Given the description of an element on the screen output the (x, y) to click on. 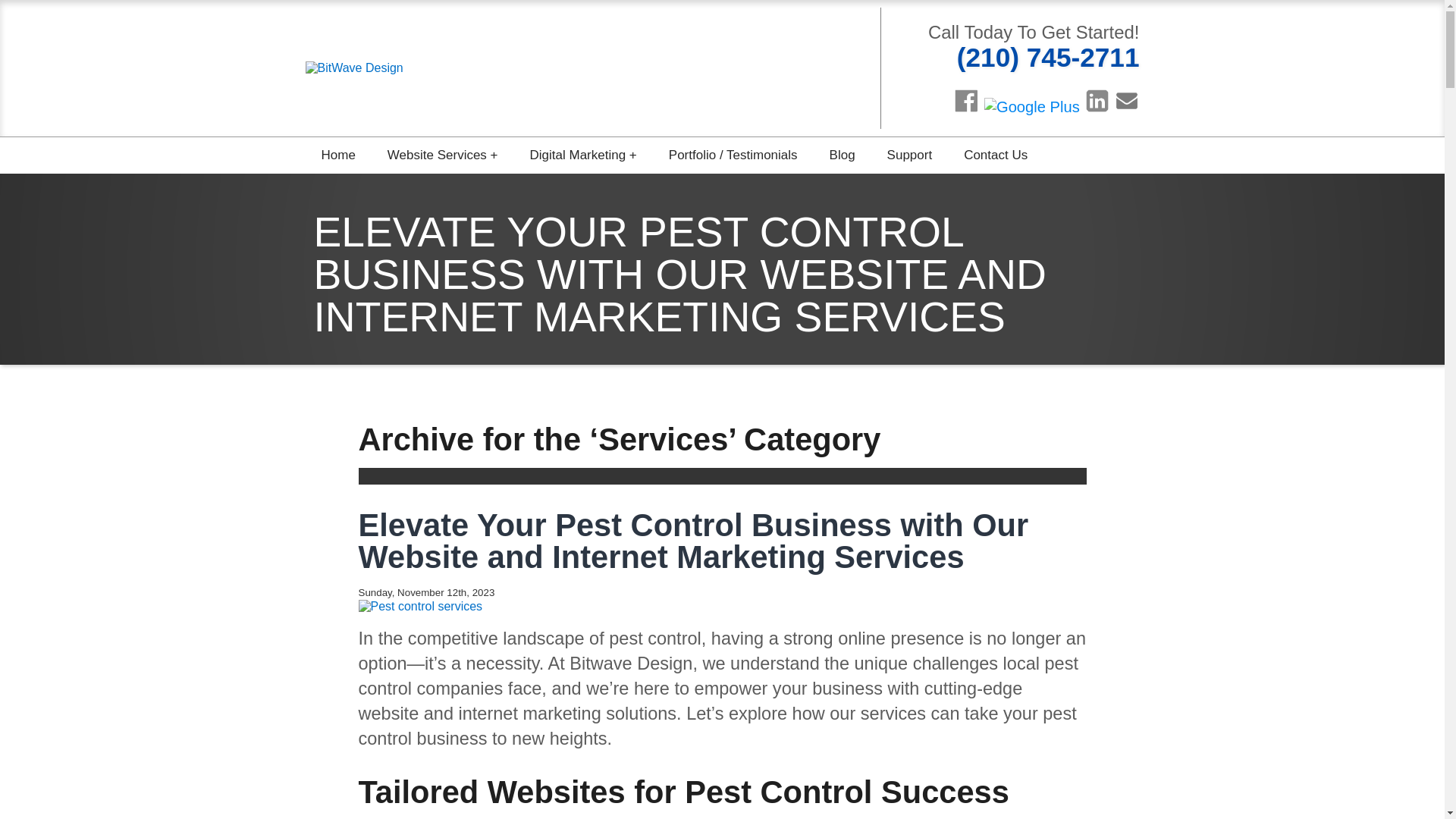
Website Services (442, 155)
Support (909, 155)
Digital Marketing (582, 155)
Contact Us (995, 155)
Home (337, 155)
Blog (841, 155)
